Given the description of an element on the screen output the (x, y) to click on. 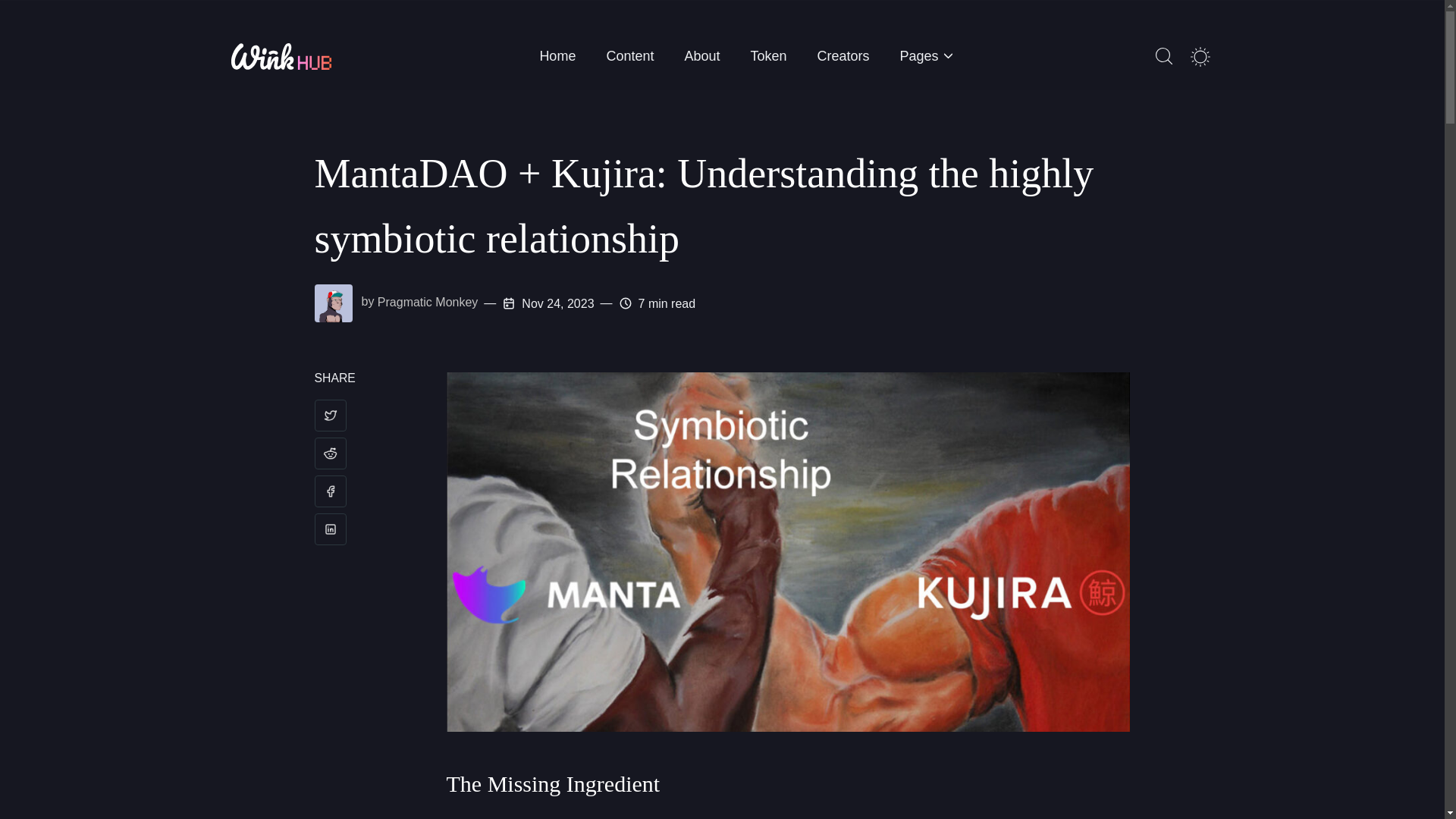
Token (768, 56)
Creators (843, 56)
About (701, 56)
Content (629, 56)
Home (557, 56)
Pages (925, 56)
